Given the description of an element on the screen output the (x, y) to click on. 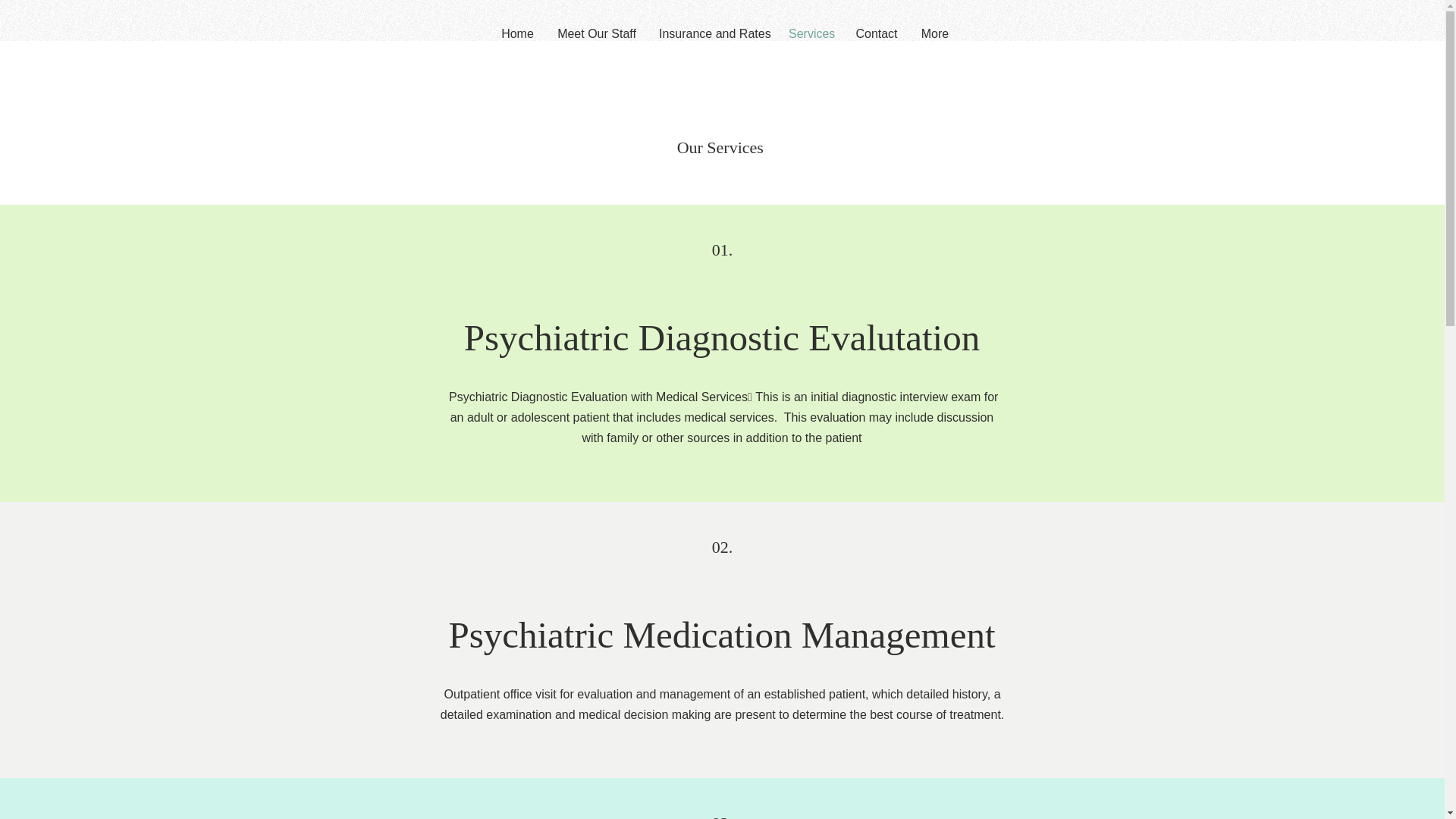
Insurance and Rates (712, 34)
Psychiatric Medication Management (721, 635)
Services (810, 34)
Meet Our Staff (596, 34)
Contact (876, 34)
Home (517, 34)
